Given the description of an element on the screen output the (x, y) to click on. 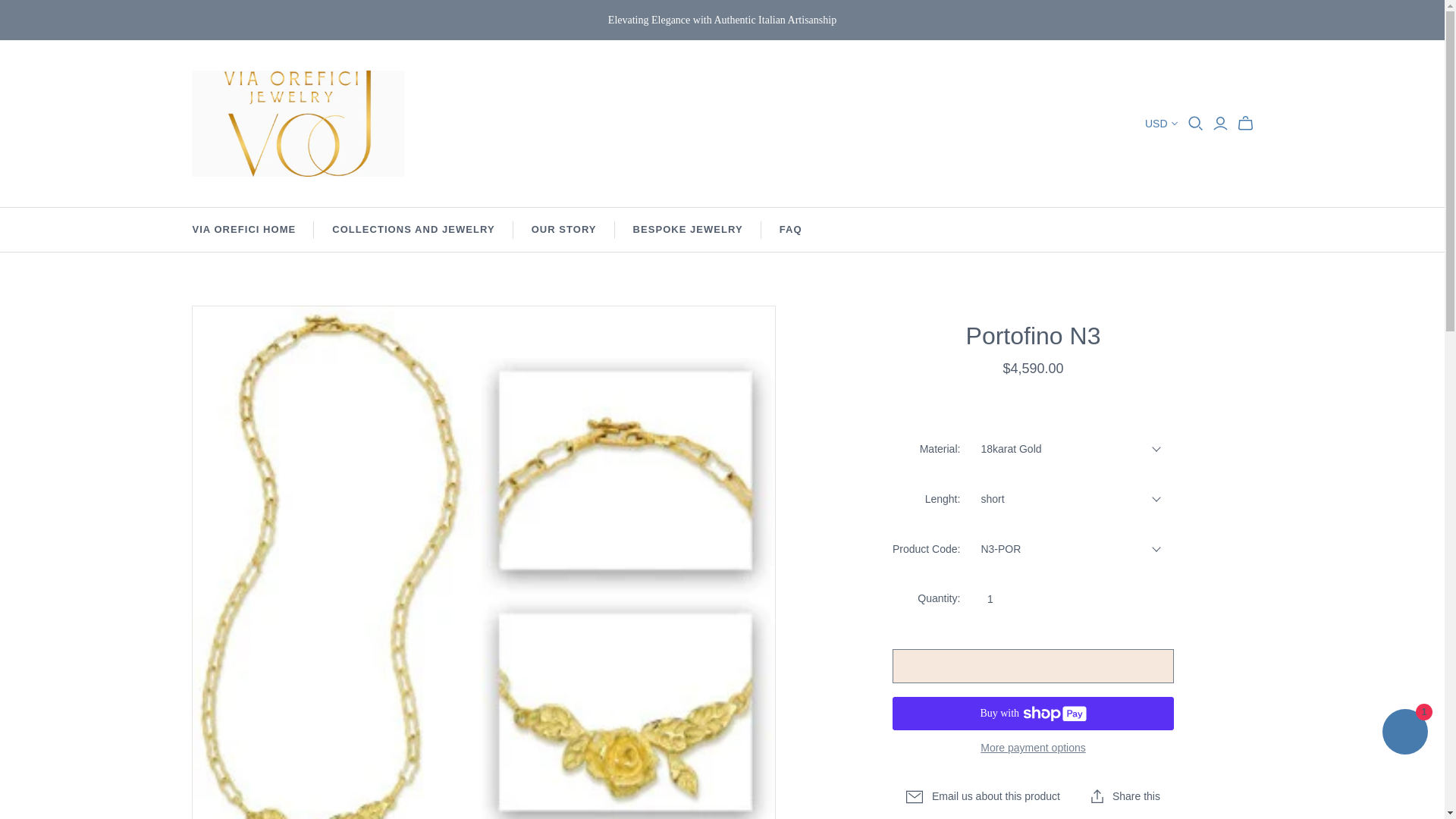
Shopify online store chat (1404, 733)
Email us about this product (983, 796)
1 (989, 598)
COLLECTIONS AND JEWELRY (413, 229)
ADD TO CART (1032, 666)
Share this (1124, 796)
BESPOKE JEWELRY (687, 229)
More payment options (1032, 747)
FAQ (791, 229)
VIA OREFICI HOME (244, 229)
OUR STORY (563, 229)
